Given the description of an element on the screen output the (x, y) to click on. 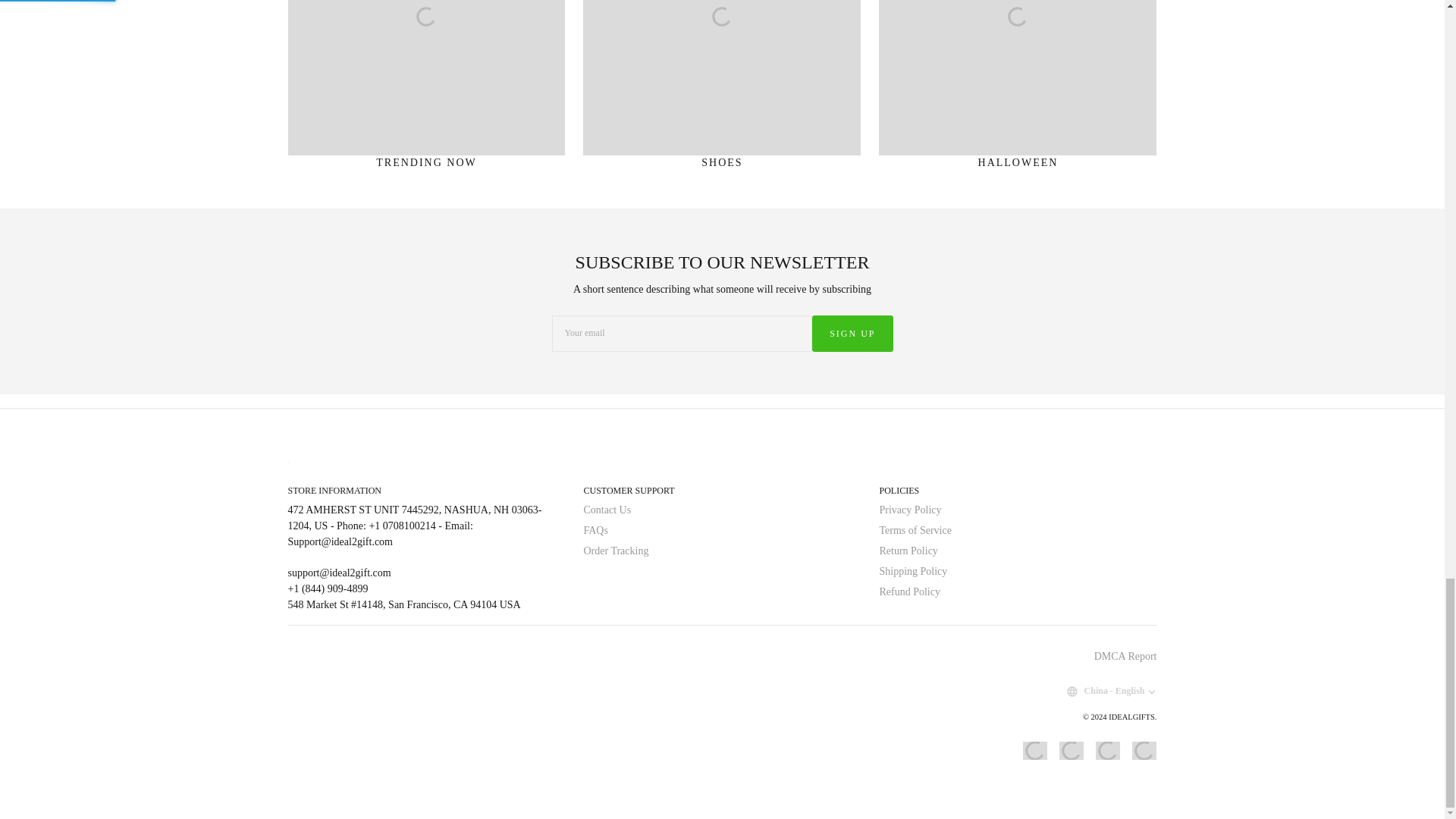
Shipping Policy (913, 571)
Return Policy (908, 550)
SIGN UP (852, 333)
Terms of Service (914, 530)
SHOES (721, 90)
HALLOWEEN (1017, 90)
Refund Policy (909, 591)
Privacy Policy (909, 509)
Contact Us (606, 509)
TRENDING NOW (427, 90)
FAQs (595, 530)
DMCA Report (1125, 655)
Order Tracking (615, 550)
